Given the description of an element on the screen output the (x, y) to click on. 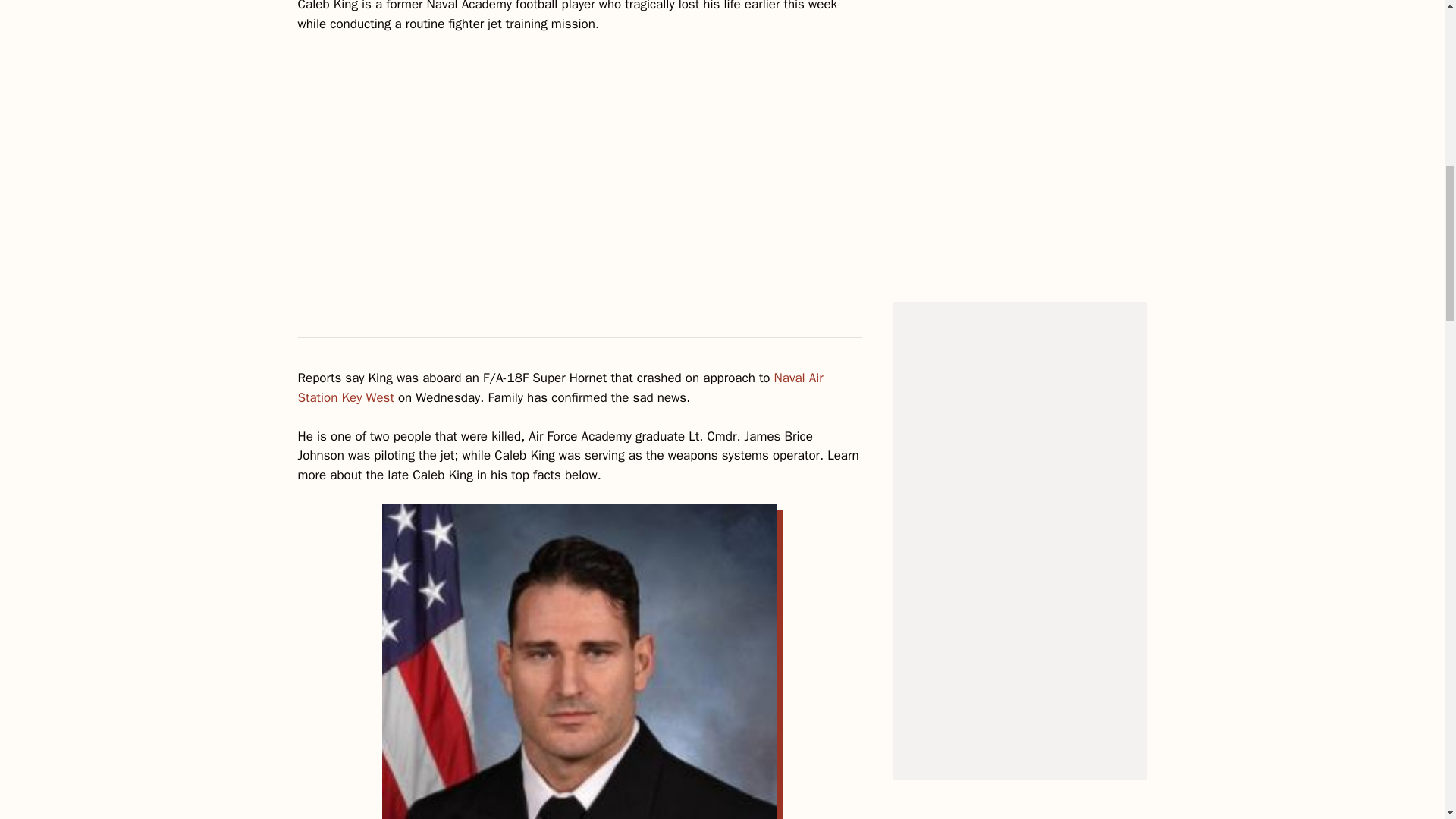
Scroll back to top (1406, 720)
Naval Air Station Key West (559, 387)
